Given the description of an element on the screen output the (x, y) to click on. 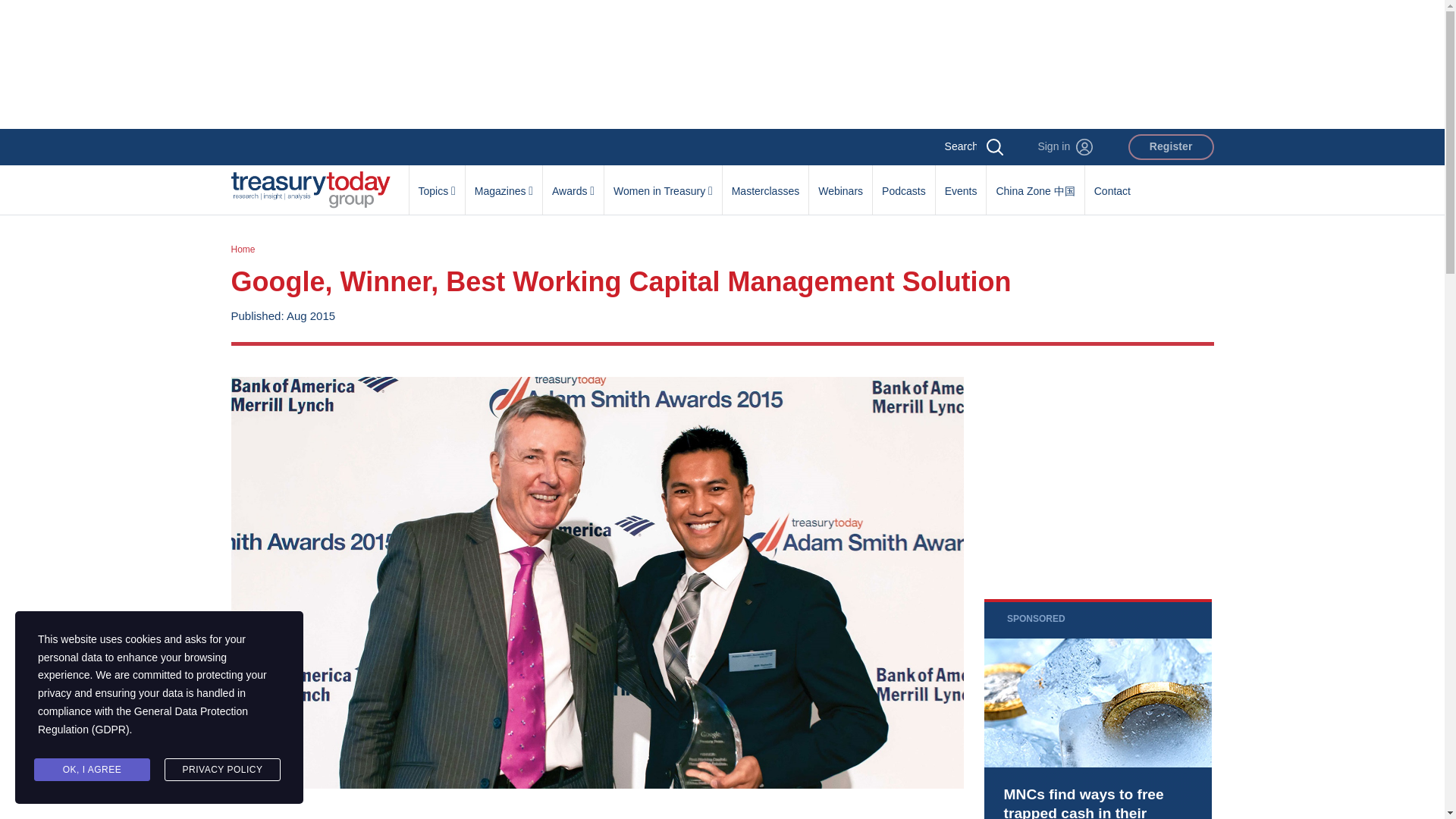
Women in Treasury  (663, 182)
Masterclasses (765, 182)
3rd party ad content (1097, 471)
3rd party ad content (1097, 708)
Register (1171, 146)
Sign in (1064, 146)
Magazines  (503, 182)
Awards  (573, 182)
Topics  (436, 182)
Webinars (840, 182)
3rd party ad content (721, 63)
